Given the description of an element on the screen output the (x, y) to click on. 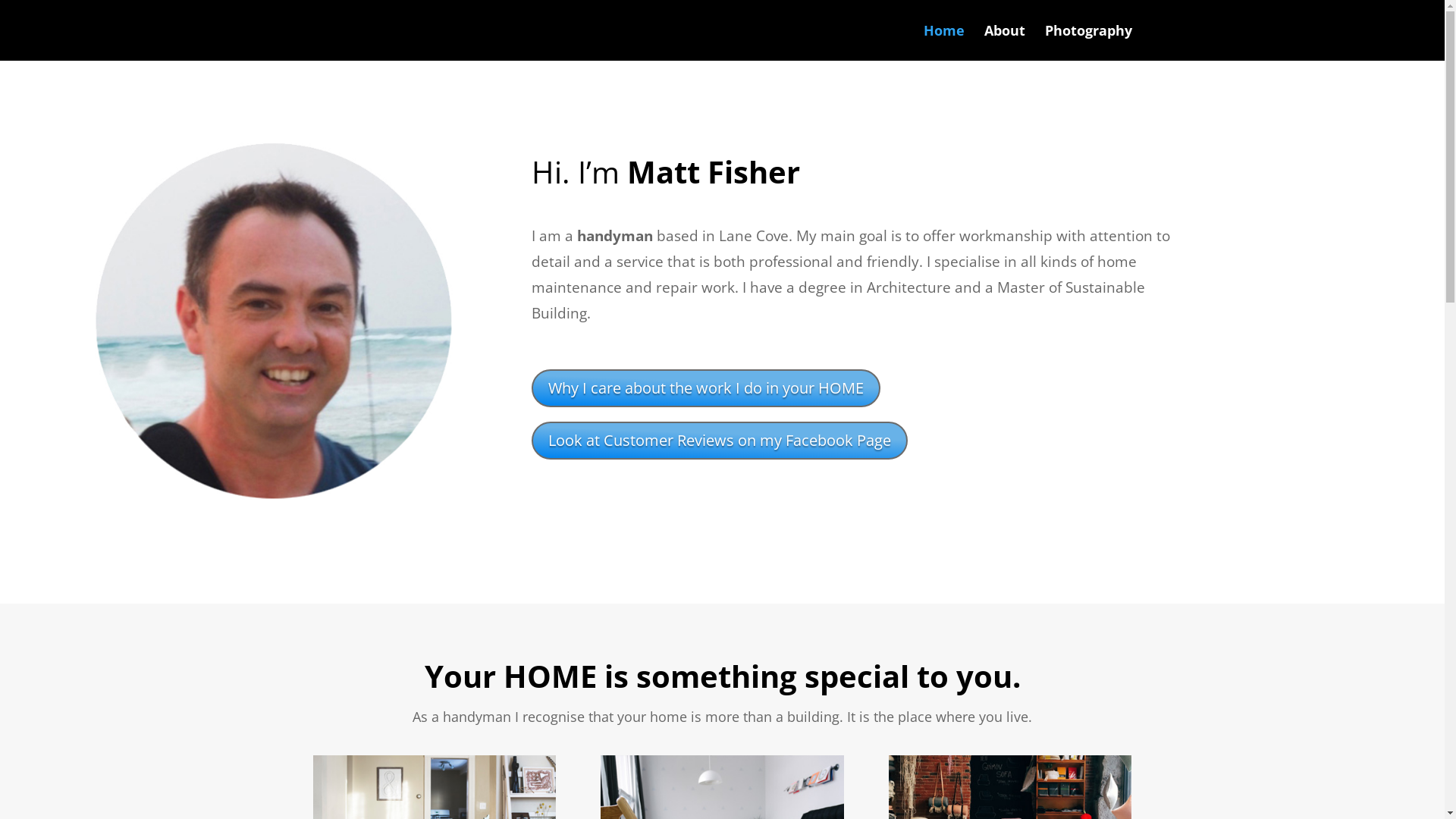
Home Element type: text (943, 42)
Photography Element type: text (1088, 42)
Why I care about the work I do in your HOME Element type: text (705, 388)
About Element type: text (1004, 42)
Look at Customer Reviews on my Facebook Page Element type: text (719, 440)
